Given the description of an element on the screen output the (x, y) to click on. 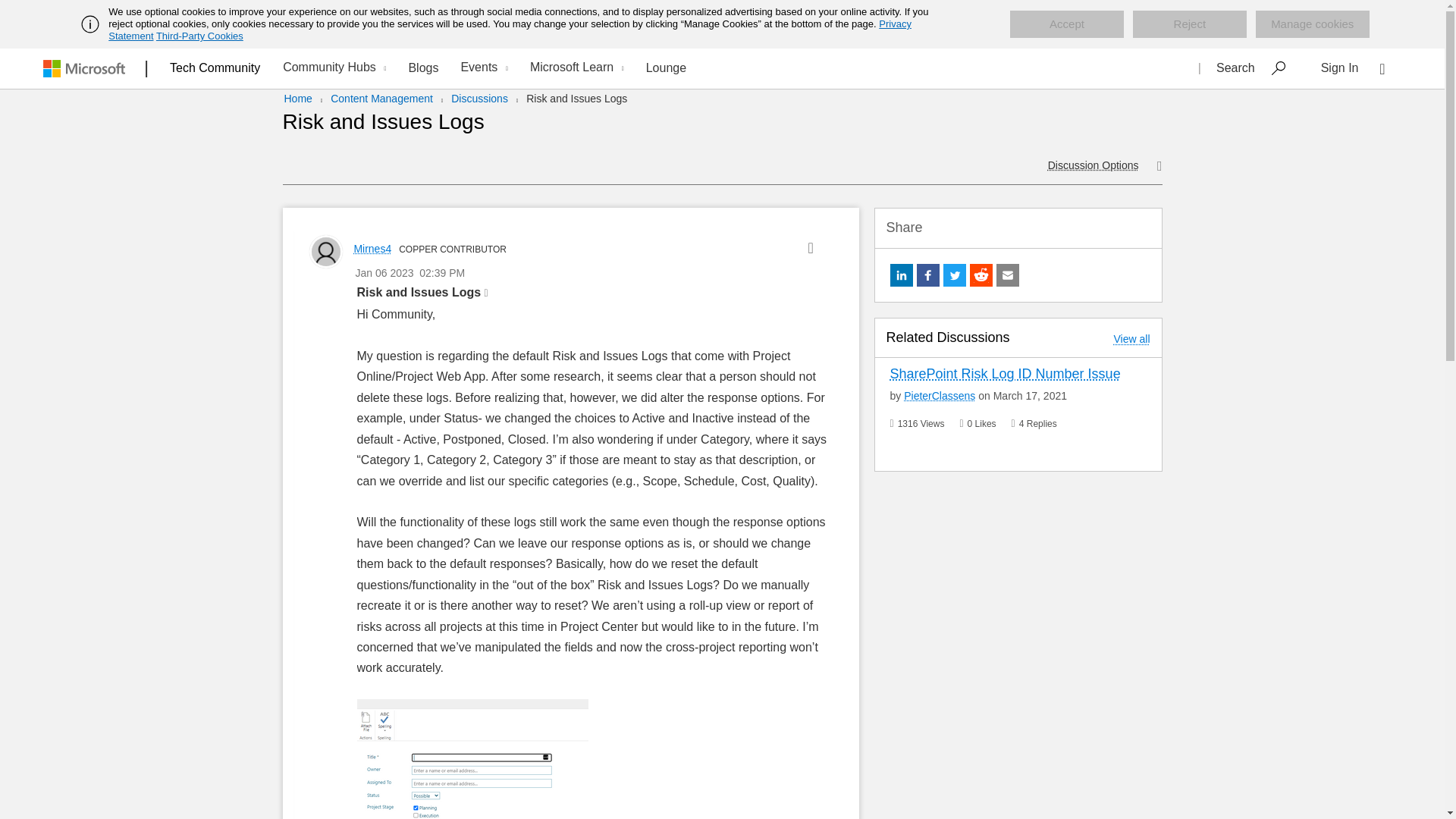
Privacy Statement (509, 29)
Reject (1189, 23)
Tech Community (215, 67)
Third-Party Cookies (199, 35)
Accept (1067, 23)
Manage cookies (1312, 23)
Community Hubs (332, 67)
